Given the description of an element on the screen output the (x, y) to click on. 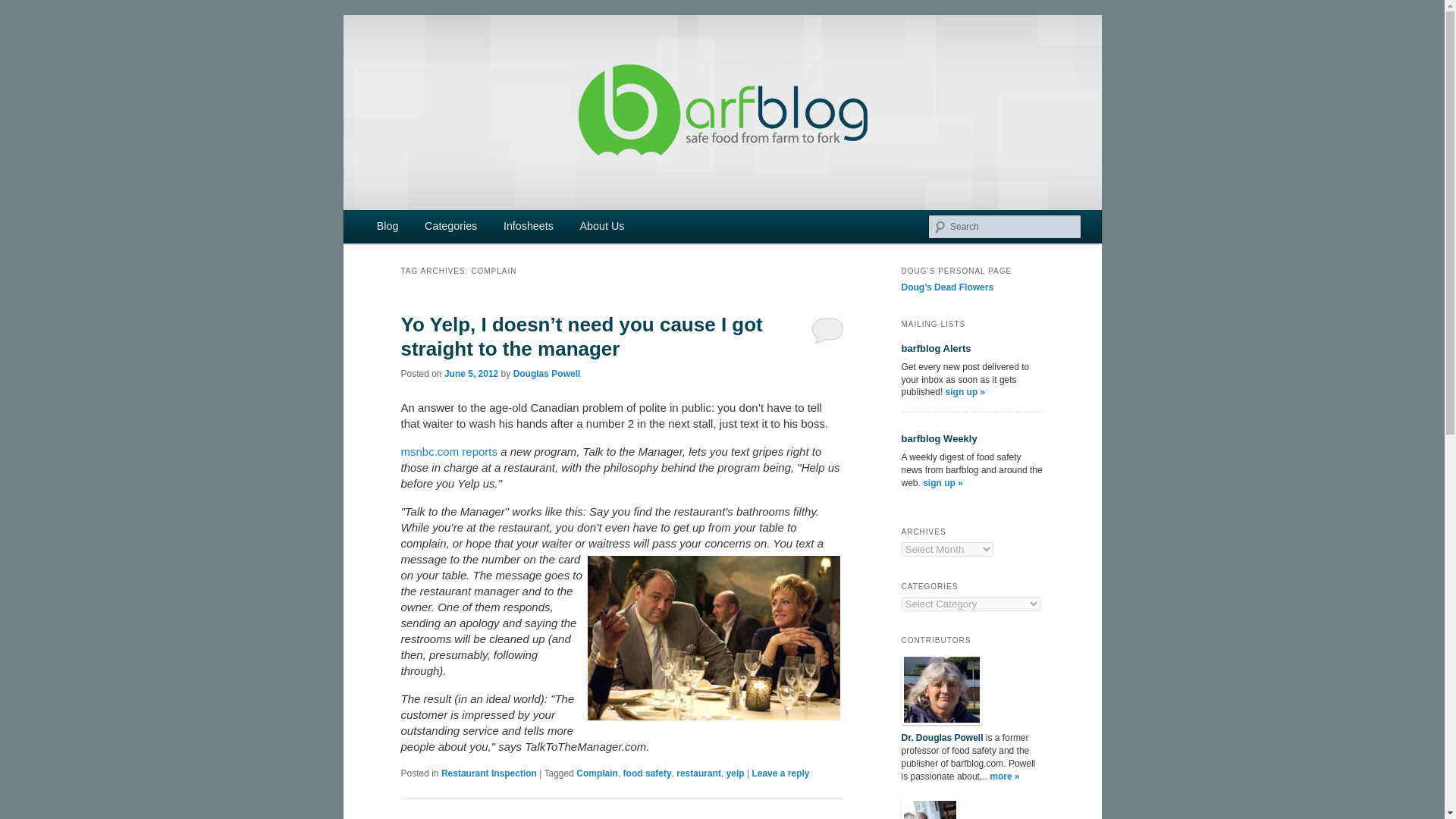
Skip to secondary content (421, 227)
Complain (596, 773)
barfblog (446, 69)
msnbc.com reports (448, 451)
June 5, 2012 (470, 373)
barfblog (446, 69)
Skip to primary content (414, 227)
6:42 am (470, 373)
Infosheets (528, 225)
Search (24, 8)
Douglas Powell (546, 373)
Skip to secondary content (421, 227)
Restaurant Inspection (489, 773)
Skip to primary content (414, 227)
View all posts by Douglas Powell (546, 373)
